Given the description of an element on the screen output the (x, y) to click on. 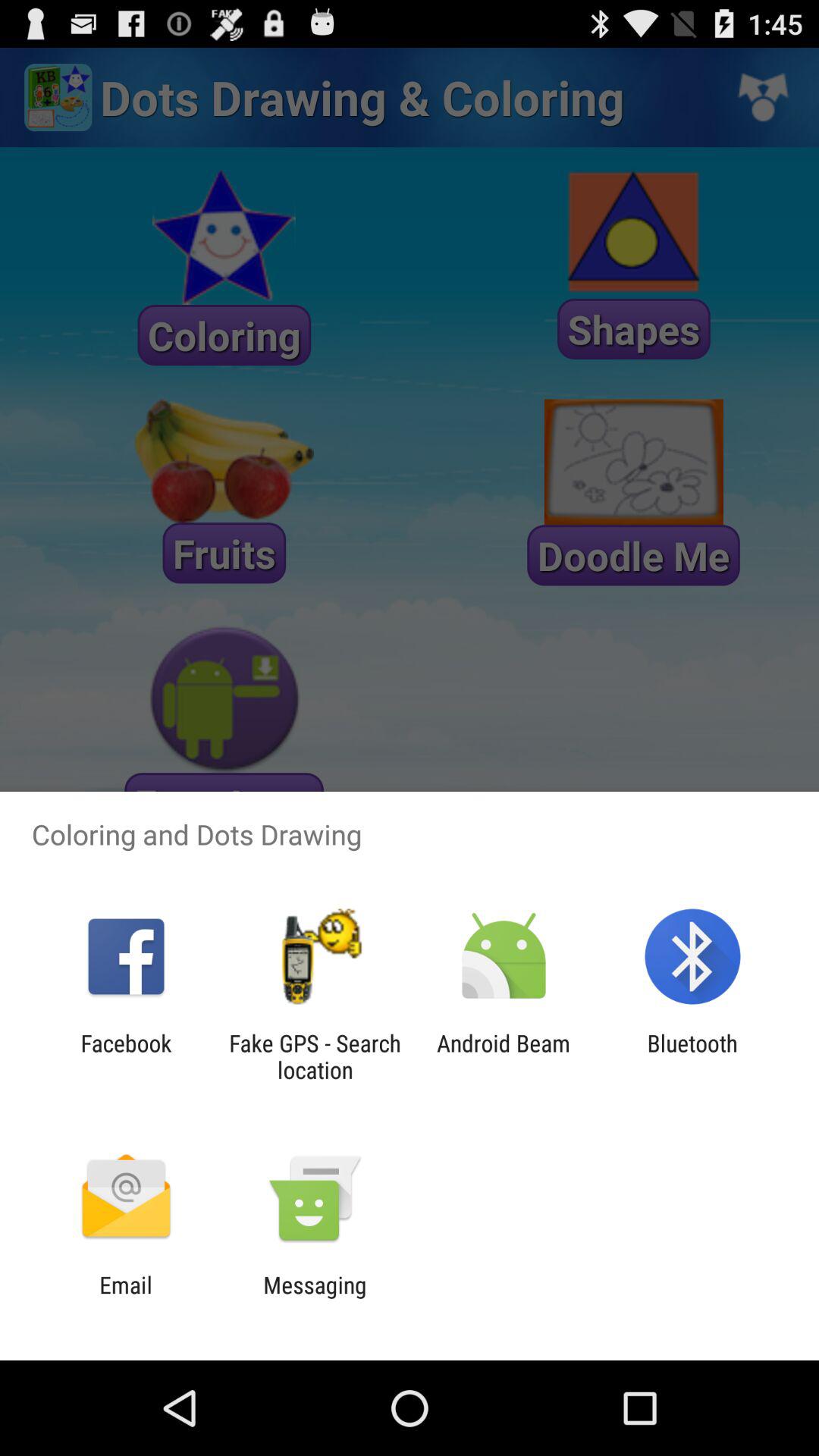
turn off app to the left of bluetooth (503, 1056)
